Given the description of an element on the screen output the (x, y) to click on. 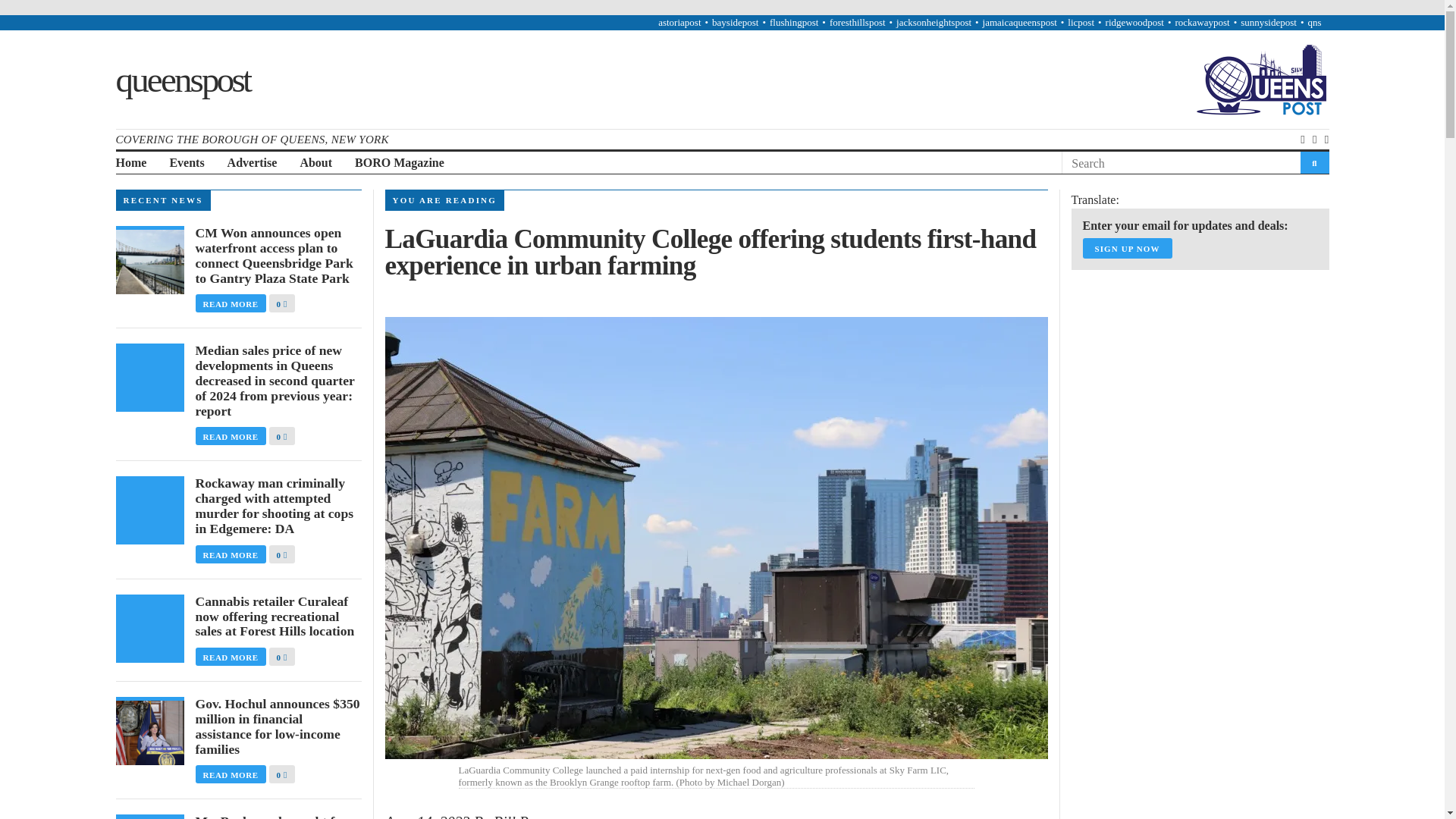
foresthillspost (857, 21)
licpost (1080, 21)
queenspost (181, 78)
About (315, 163)
sunnysidepost (1268, 21)
flushingpost (794, 21)
ridgewoodpost (1134, 21)
rockawaypost (1201, 21)
BORO Magazine (399, 163)
qns (1313, 21)
